Given the description of an element on the screen output the (x, y) to click on. 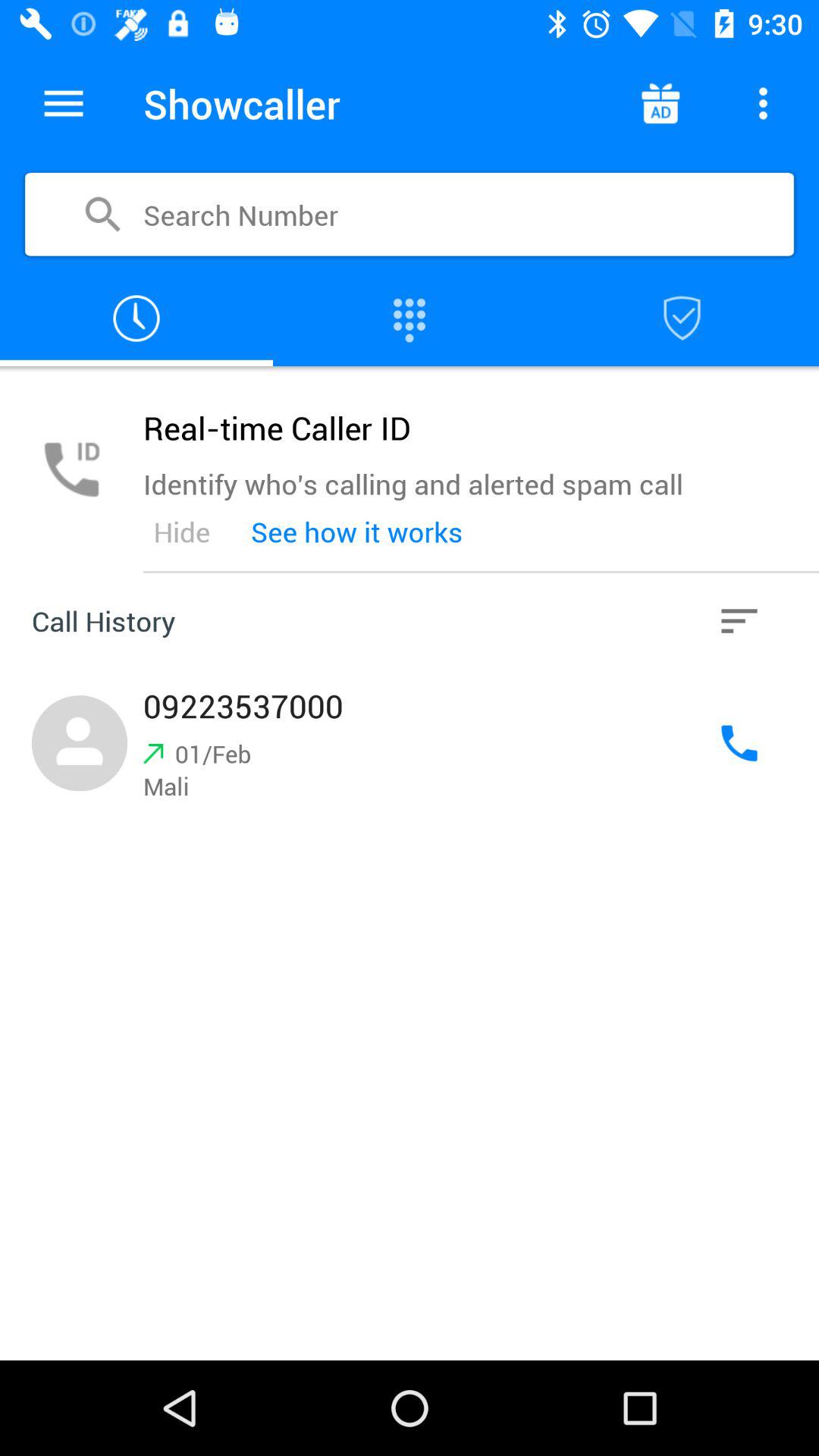
recent call history entry (409, 743)
